Given the description of an element on the screen output the (x, y) to click on. 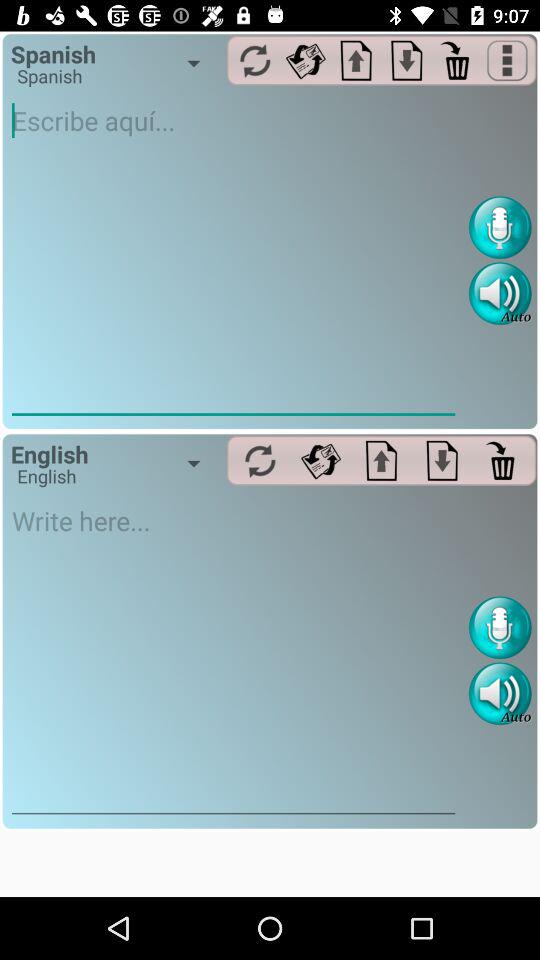
refresh the page (254, 60)
